Given the description of an element on the screen output the (x, y) to click on. 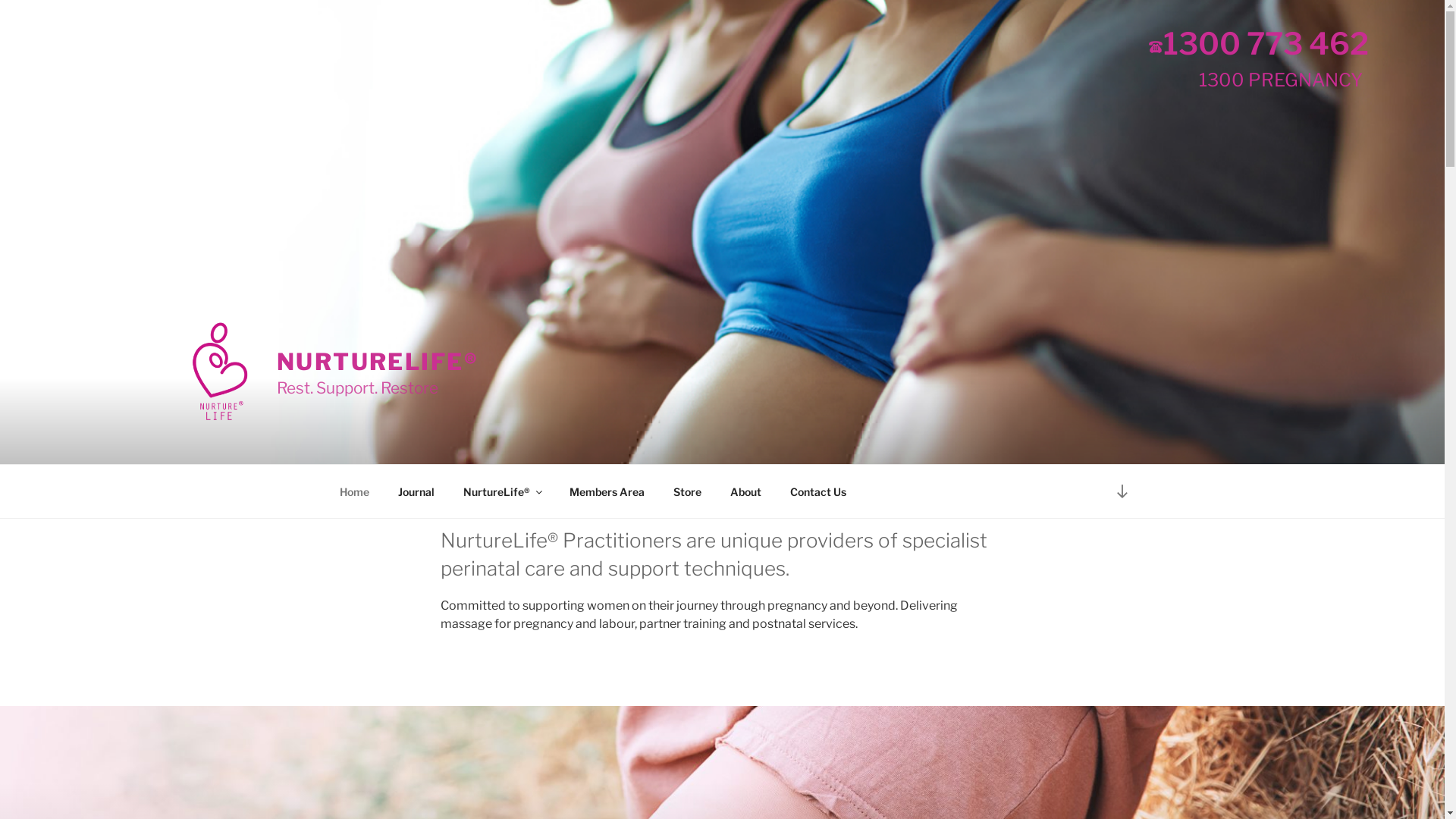
Contact Us Element type: text (817, 491)
About Element type: text (746, 491)
Journal Element type: text (416, 491)
Members Area Element type: text (607, 491)
Scroll down to content Element type: text (1121, 490)
Store Element type: text (686, 491)
Home Element type: text (354, 491)
